Given the description of an element on the screen output the (x, y) to click on. 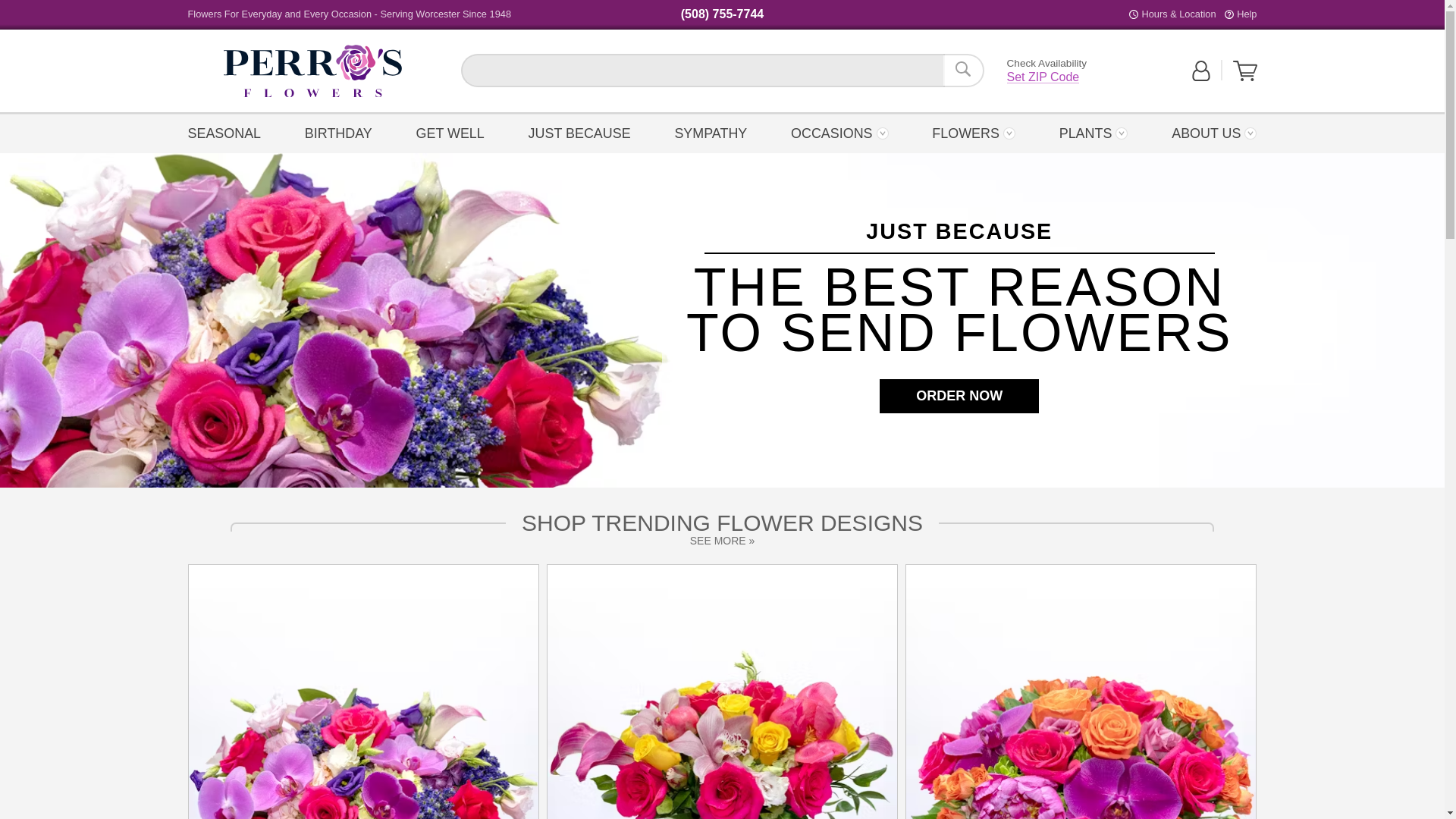
Perro's Flowers Logo (312, 71)
SYMPATHY (312, 71)
Help (710, 132)
GET WELL (1246, 13)
SEASONAL (450, 132)
JUST BECAUSE (228, 132)
BIRTHDAY (579, 132)
Search (338, 132)
OCCASIONS (963, 70)
Back to the Home Page (839, 132)
Set ZIP Code (312, 71)
View Your Shopping Cart (1043, 77)
View Your Shopping Cart (1245, 70)
